Given the description of an element on the screen output the (x, y) to click on. 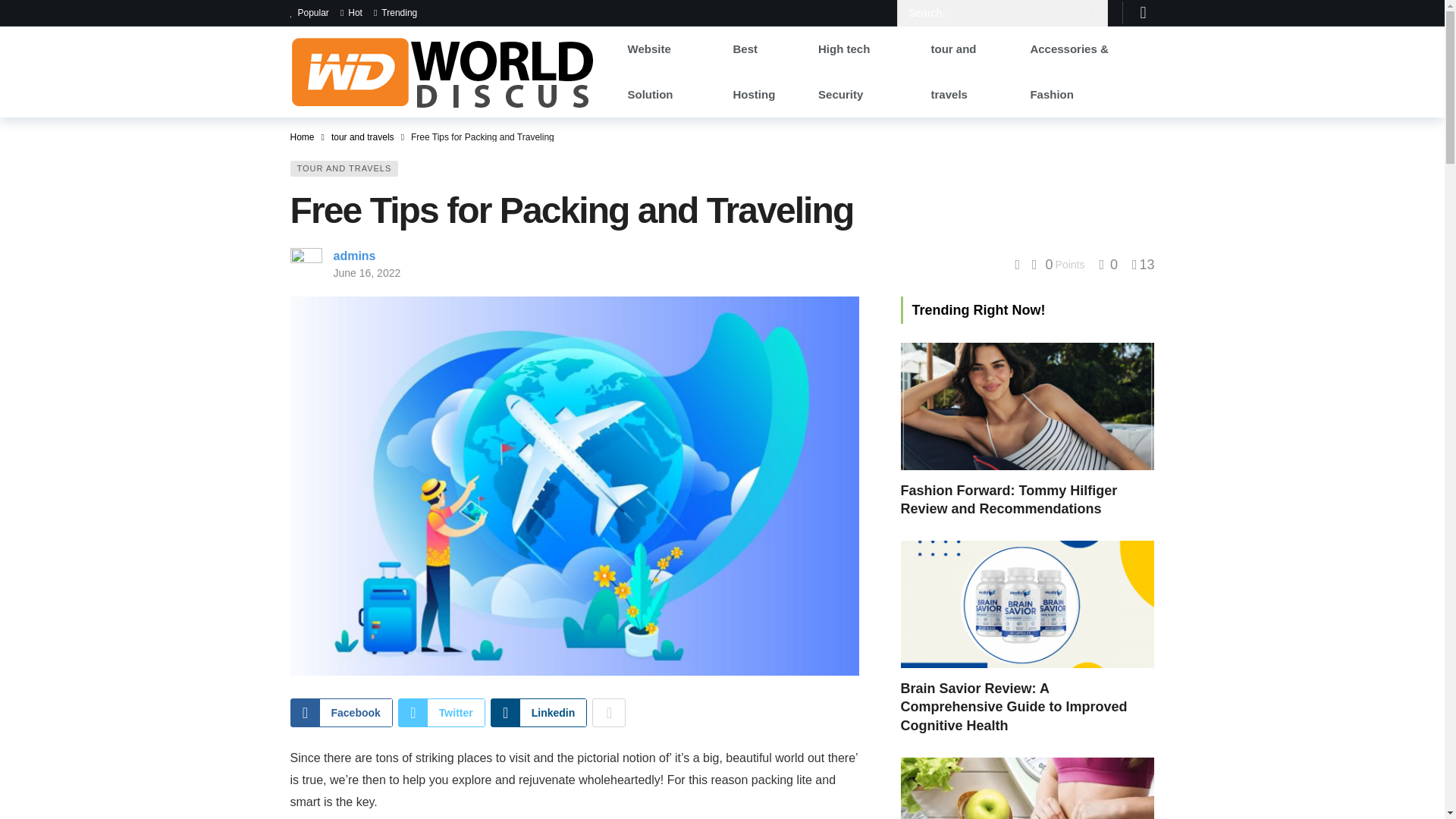
0 (1108, 264)
Trending (395, 13)
admins (354, 255)
tour and travels (362, 136)
Popular (314, 13)
tour and travels (969, 71)
Facebook (340, 712)
Linkedin (539, 712)
June 16, 2022 (367, 272)
TOUR AND TRAVELS (343, 168)
Best Hosting (765, 71)
High tech Security (862, 71)
